Given the description of an element on the screen output the (x, y) to click on. 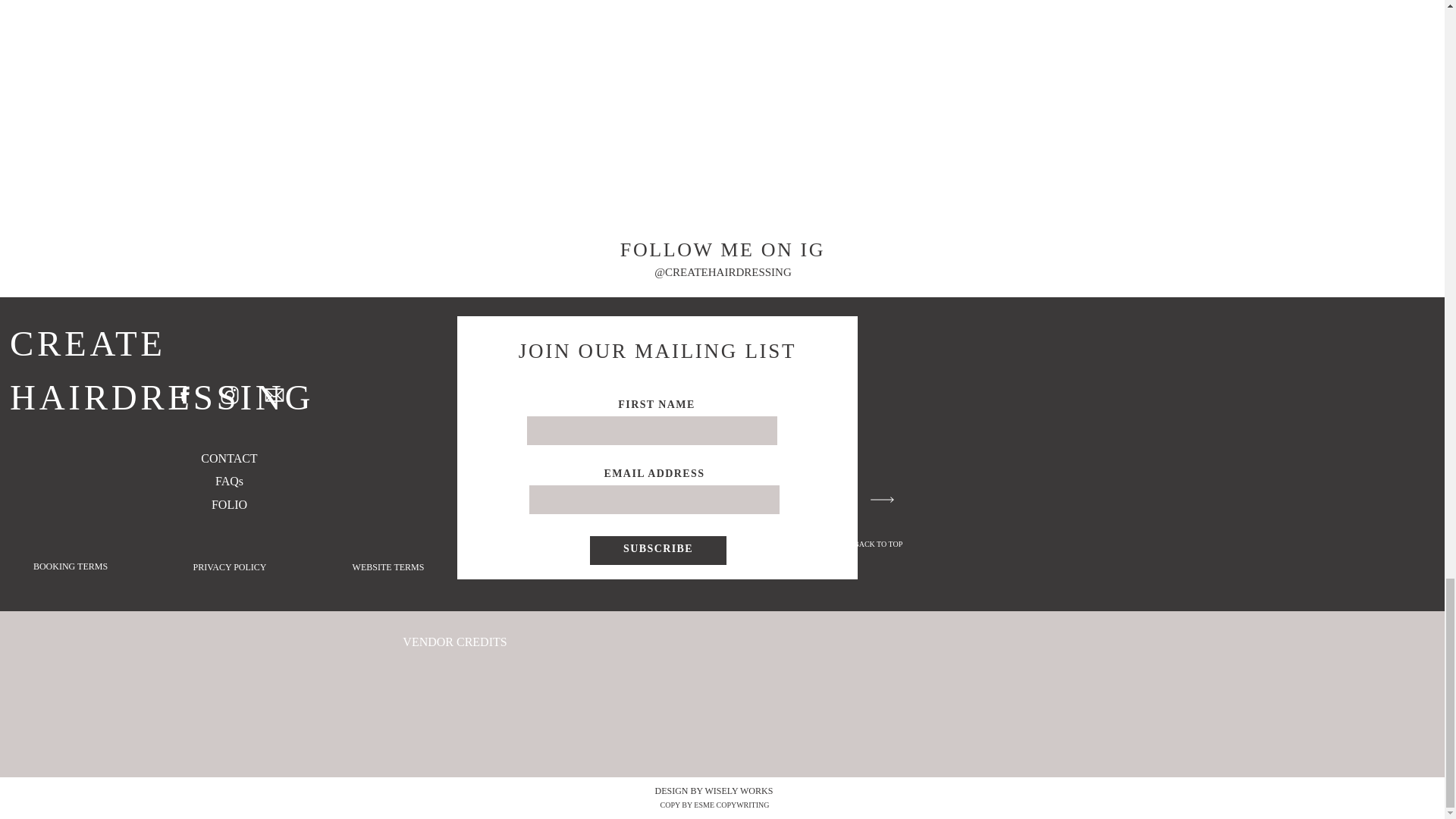
FAQs (228, 482)
PRIVACY POLICY (229, 569)
WEBSITE TERMS (388, 569)
FOLIO (228, 504)
BOOKING TERMS (69, 568)
SUBSCRIBE (657, 549)
VENDOR CREDITS (455, 643)
CONTACT (228, 483)
